Given the description of an element on the screen output the (x, y) to click on. 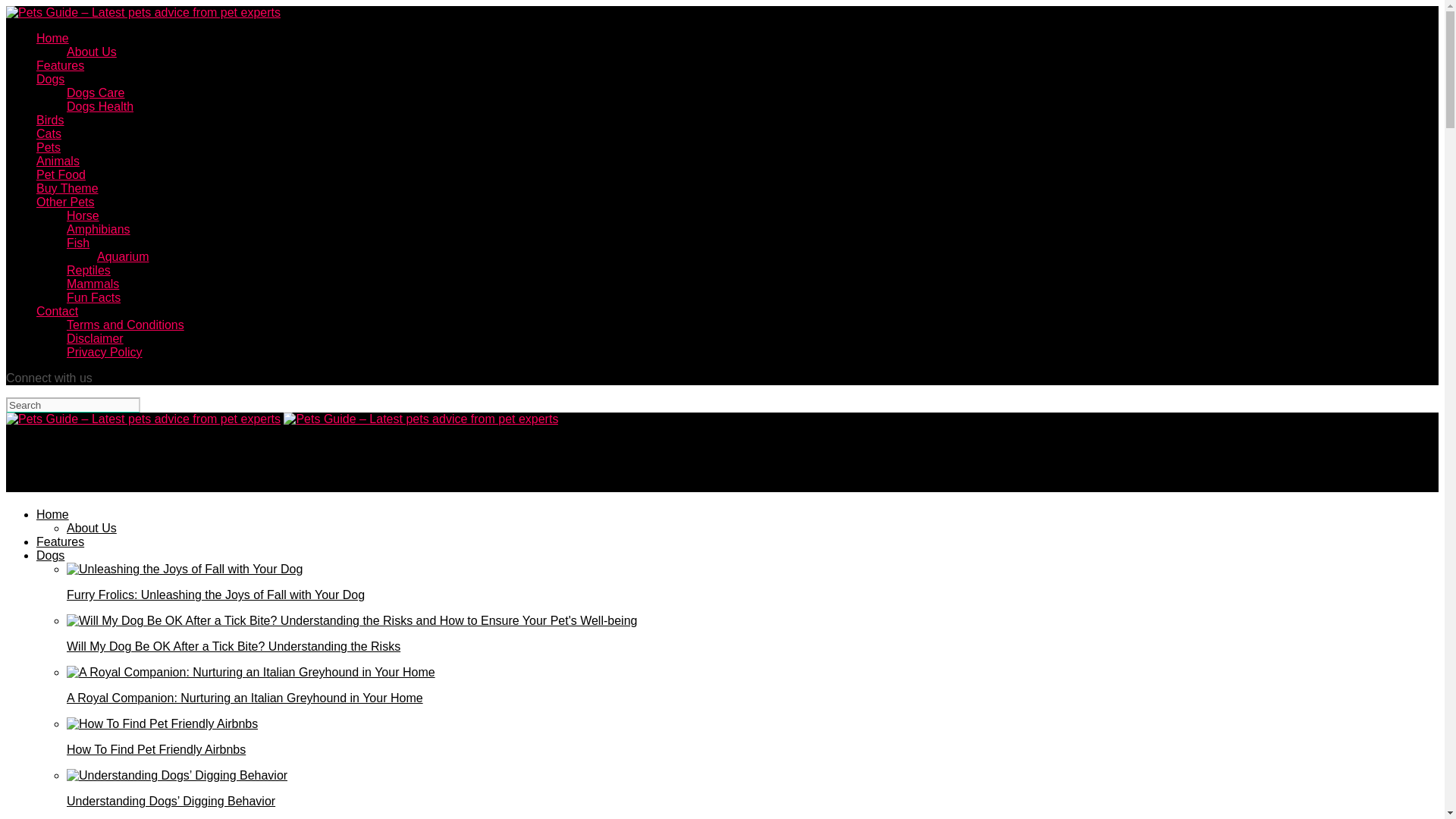
Mammals (92, 283)
Home (52, 38)
Aquarium (122, 256)
how to find pet friendly airbnbs 4 (161, 724)
furry frolics: unleashing the joys of fall with your dog 1 (184, 569)
Cats (48, 133)
Contact (57, 310)
Home (52, 513)
Horse (82, 215)
